Given the description of an element on the screen output the (x, y) to click on. 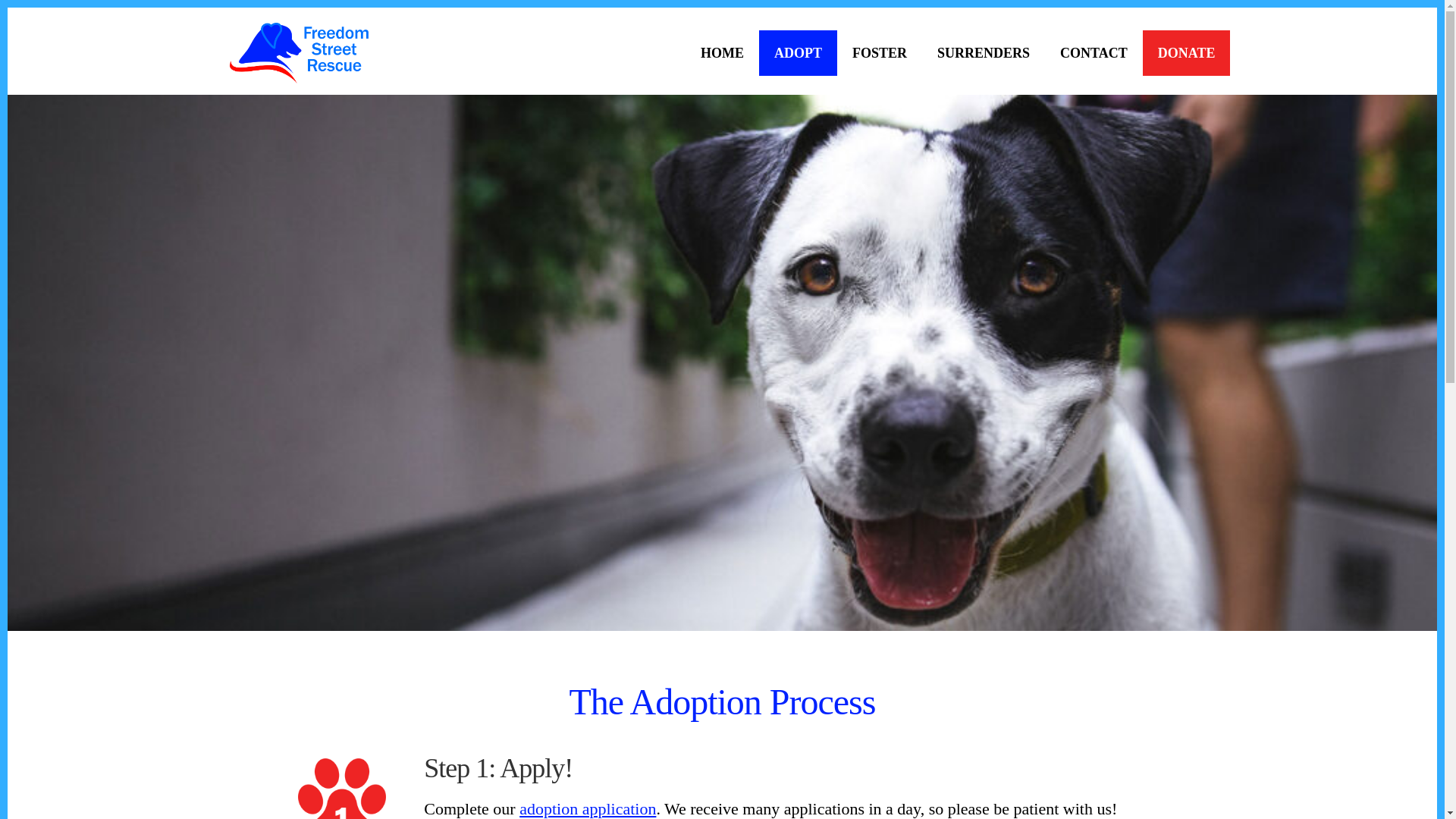
Adopt (797, 53)
ADOPT (797, 53)
Donate (1186, 53)
DONATE (1186, 53)
Return to the homepage (298, 52)
Contact (1093, 53)
HOME (721, 53)
Foster (879, 53)
CONTACT (1093, 53)
adoption application (587, 808)
